Given the description of an element on the screen output the (x, y) to click on. 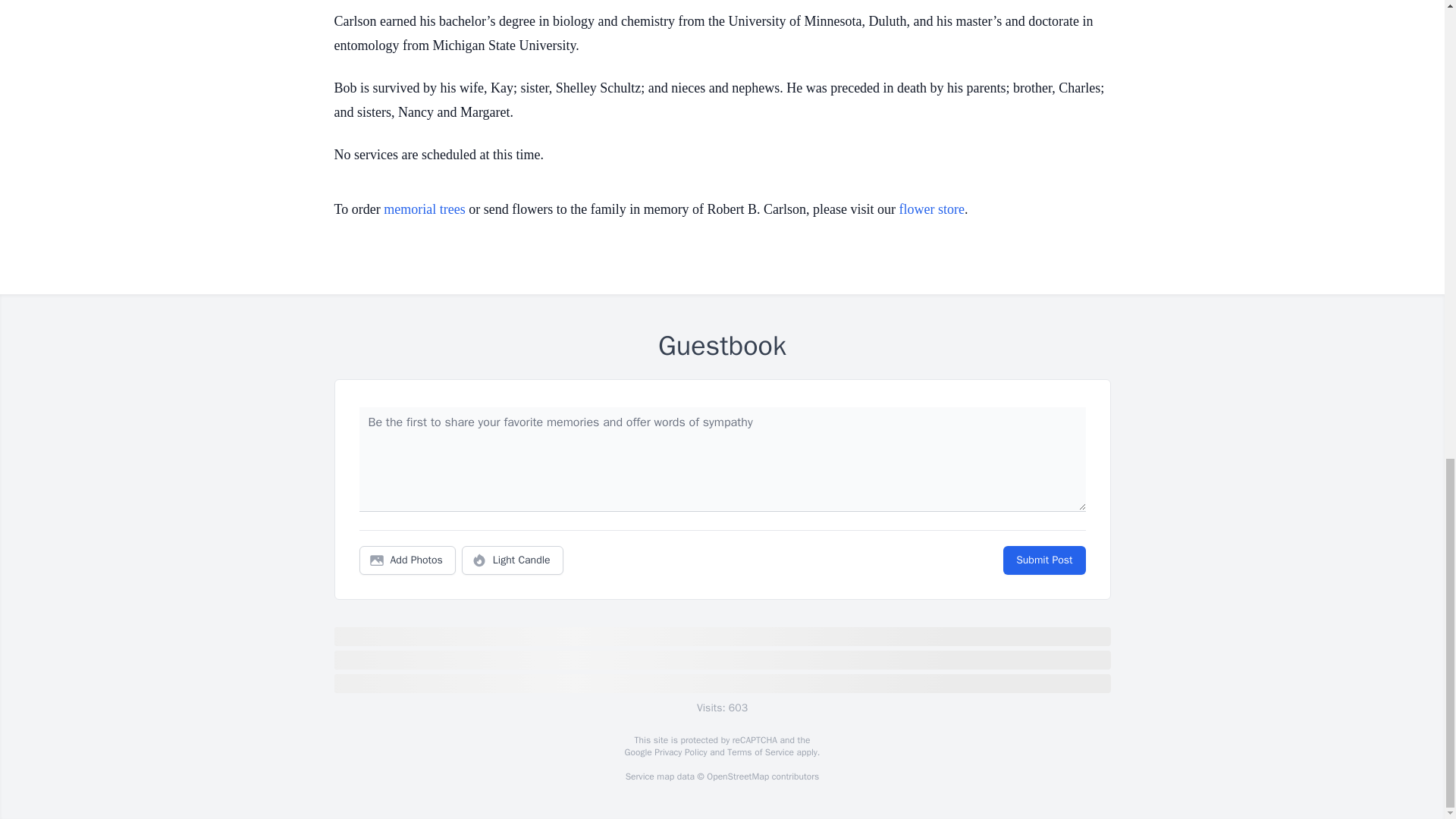
flower store (931, 209)
memorial trees (424, 209)
Light Candle (512, 560)
Terms of Service (759, 752)
Add Photos (407, 560)
Submit Post (1043, 560)
Privacy Policy (679, 752)
OpenStreetMap (737, 776)
